Given the description of an element on the screen output the (x, y) to click on. 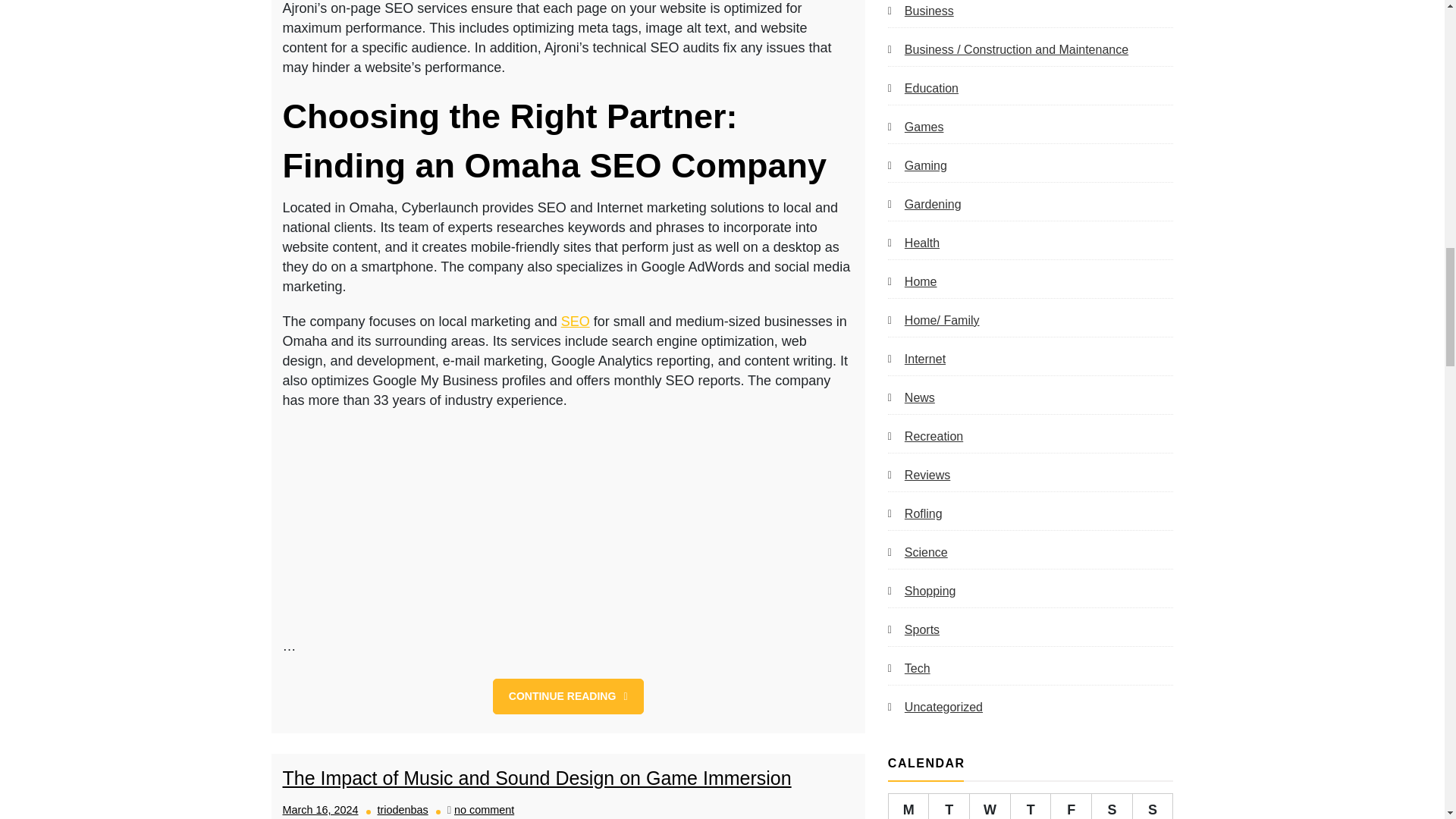
CONTINUE READING (568, 696)
SEO (574, 321)
March 16, 2024 (320, 809)
The Impact of Music and Sound Design on Game Immersion (536, 777)
triodenbas (402, 809)
Tuesday (948, 806)
Saturday (1112, 806)
Wednesday (989, 806)
Monday (908, 806)
Thursday (1030, 806)
Sunday (1152, 806)
Friday (1071, 806)
